Given the description of an element on the screen output the (x, y) to click on. 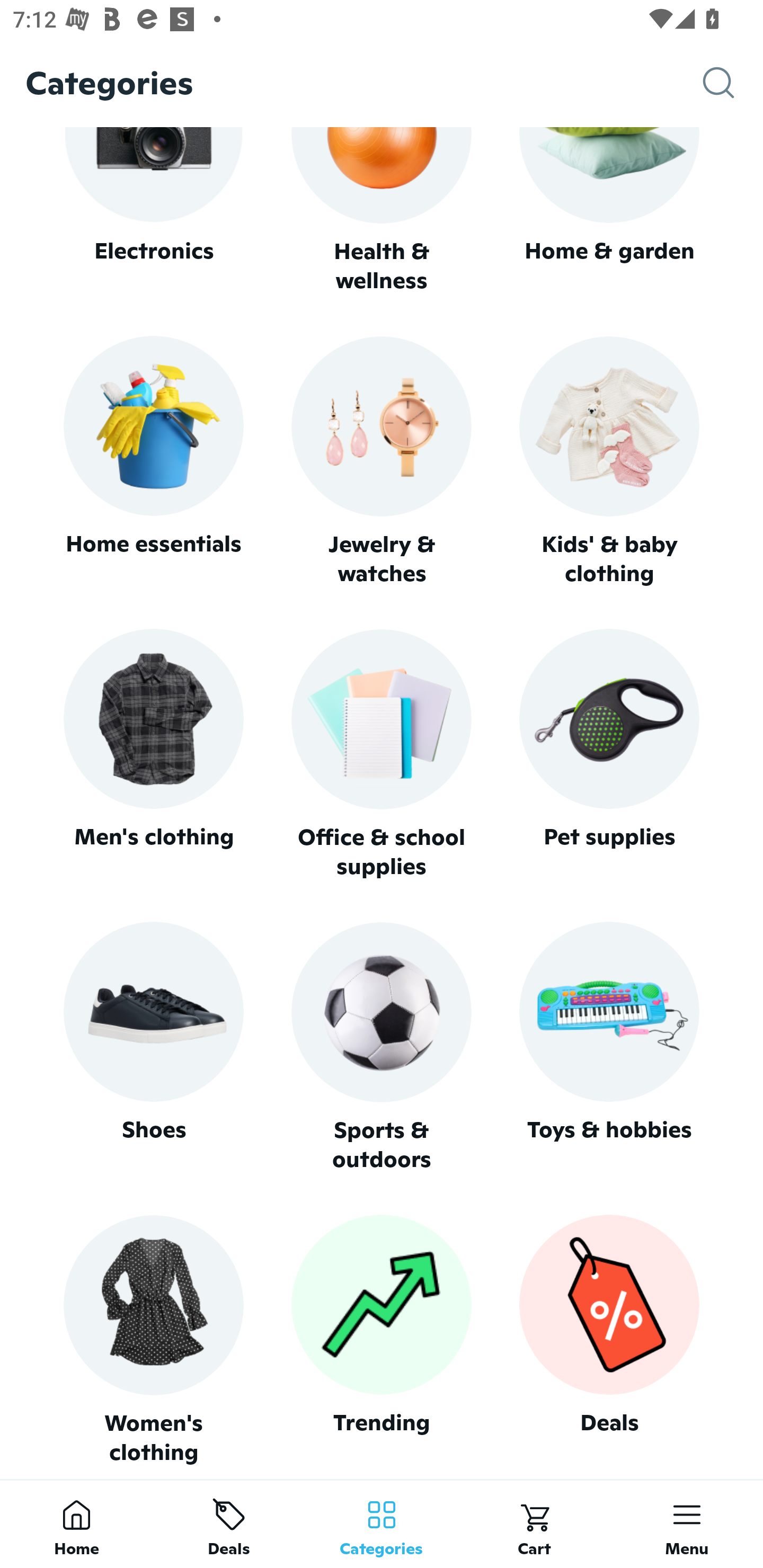
Search (732, 82)
Electronics (153, 210)
Health & wellness (381, 210)
Home & garden (609, 210)
Home essentials (153, 461)
Jewelry & watches (381, 462)
Kids' & baby clothing (609, 462)
Men's clothing (153, 753)
Pet supplies (609, 753)
Office & school supplies (381, 753)
Shoes (153, 1046)
Toys & hobbies (609, 1046)
Sports & outdoors (381, 1046)
Trending (381, 1340)
Deals (609, 1340)
Women's clothing (153, 1340)
Home (76, 1523)
Deals (228, 1523)
Categories (381, 1523)
Cart (533, 1523)
Menu (686, 1523)
